Given the description of an element on the screen output the (x, y) to click on. 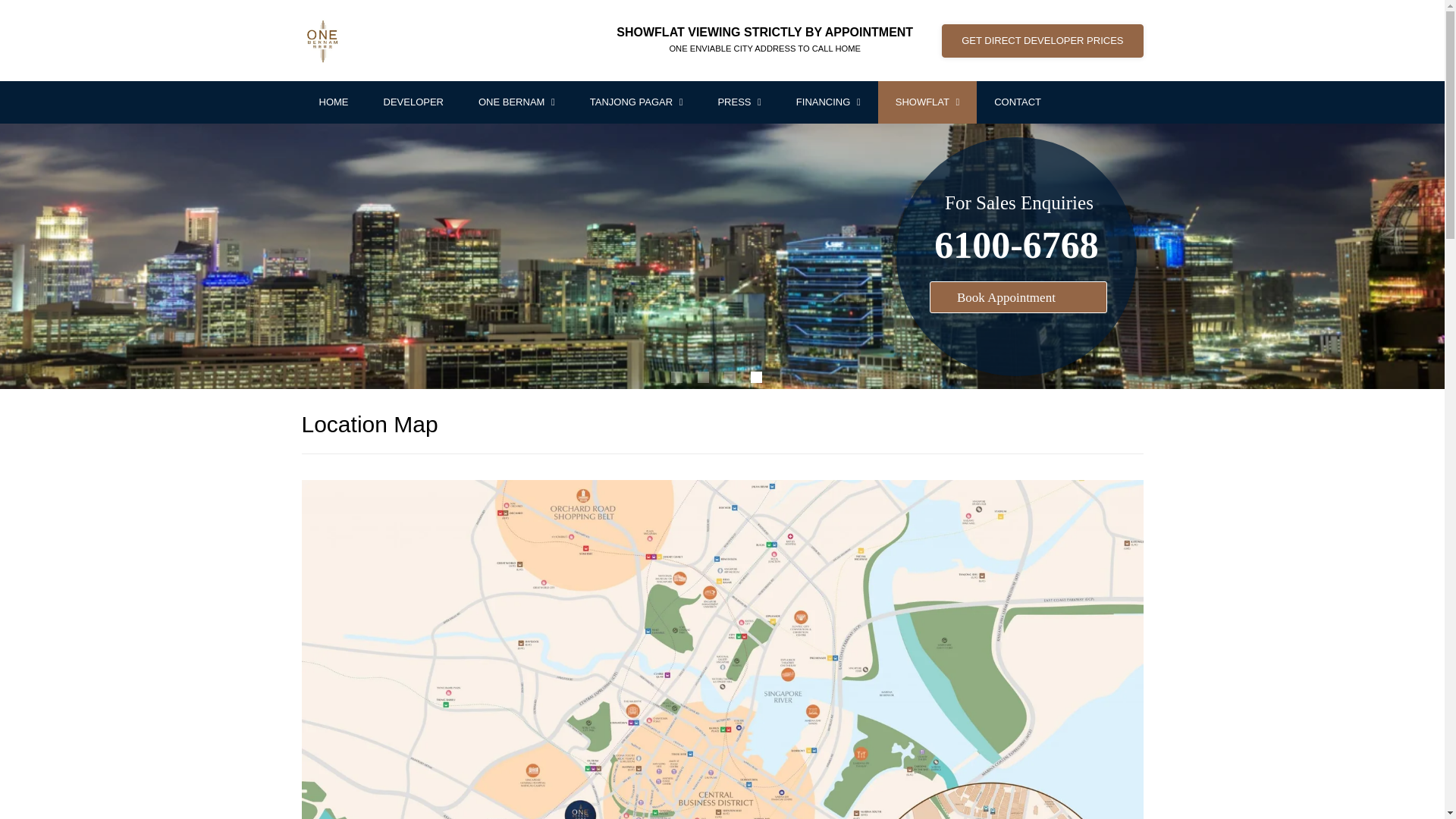
One Bernam (516, 102)
Developer (412, 102)
DEVELOPER (412, 102)
FINANCING (827, 102)
Home (333, 102)
ONE BERNAM (516, 102)
HOME (333, 102)
GET DIRECT DEVELOPER PRICES (1042, 40)
PRESS (738, 102)
TANJONG PAGAR (636, 102)
Tanjong Pagar (636, 102)
